Given the description of an element on the screen output the (x, y) to click on. 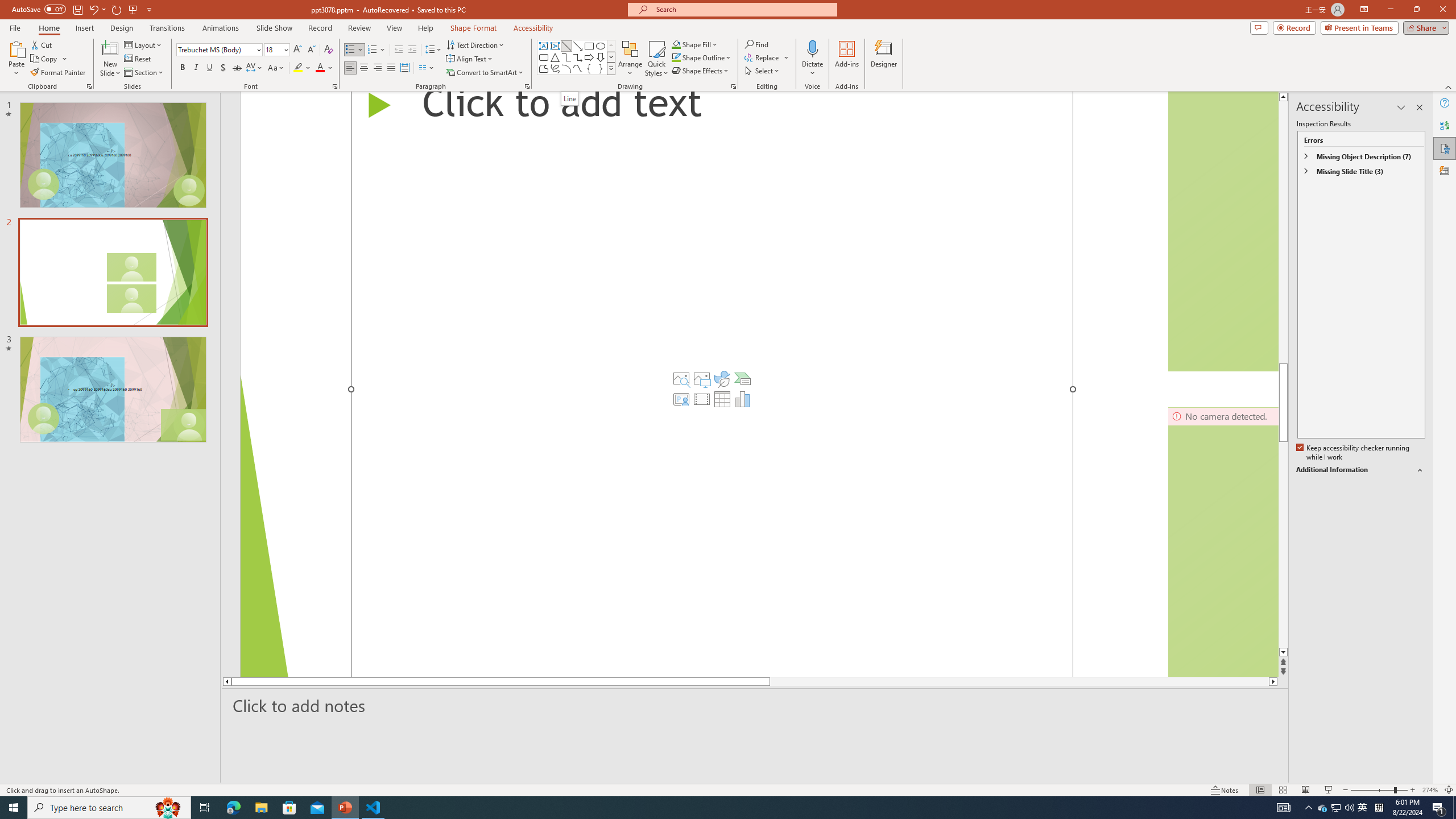
Bullets (349, 49)
Font (219, 49)
Copy (45, 58)
Insert Chart (742, 398)
Font (215, 49)
Line up (1283, 96)
Format Painter (58, 72)
Dictate (812, 48)
Microsoft search (742, 9)
Text Highlight Color (302, 67)
Font Color (324, 67)
Quick Styles (656, 58)
Content Placeholder (711, 383)
